Given the description of an element on the screen output the (x, y) to click on. 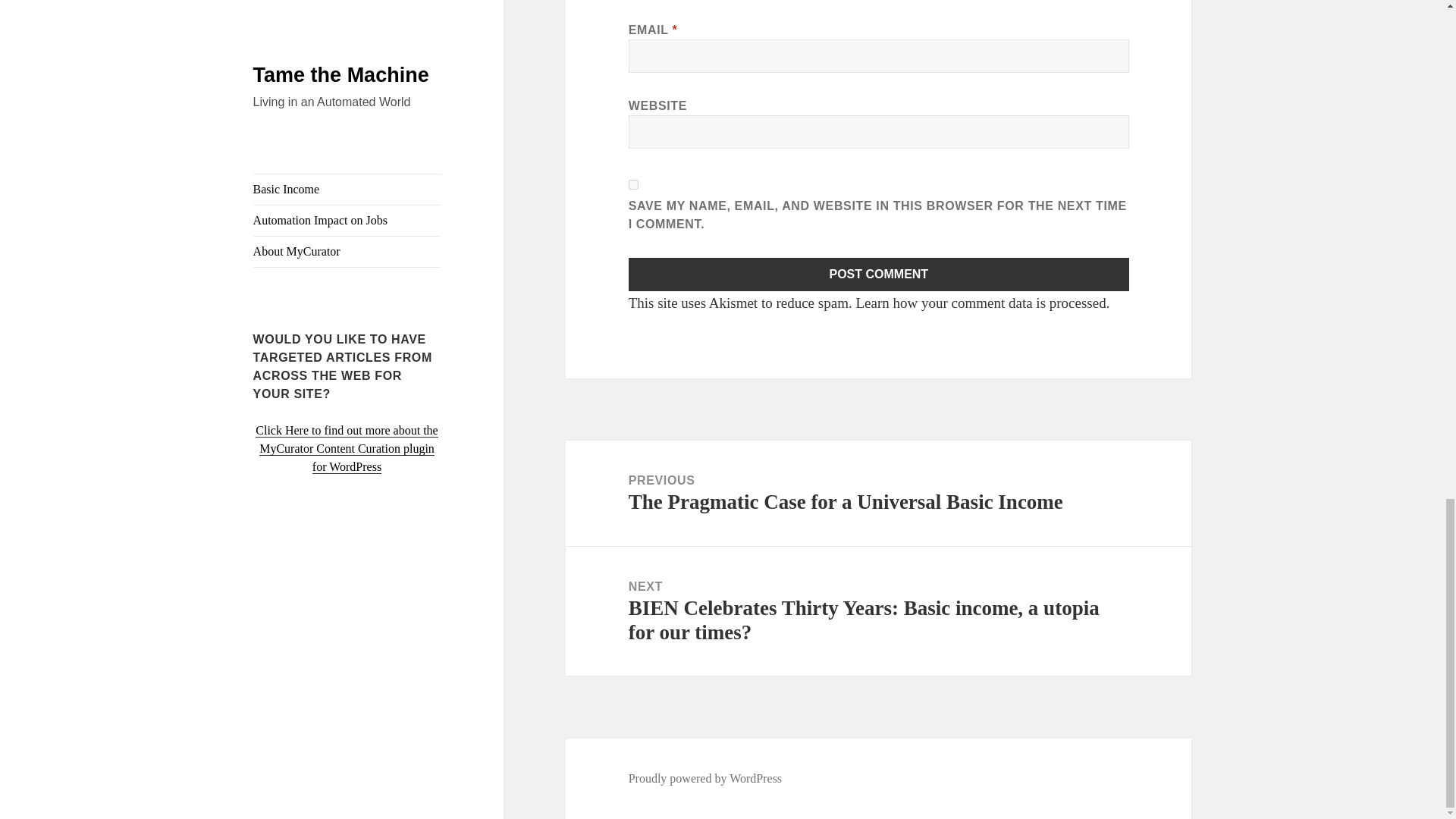
Post Comment (878, 274)
Post Comment (878, 274)
Learn how your comment data is processed (980, 302)
Proudly powered by WordPress (704, 778)
yes (633, 184)
